Given the description of an element on the screen output the (x, y) to click on. 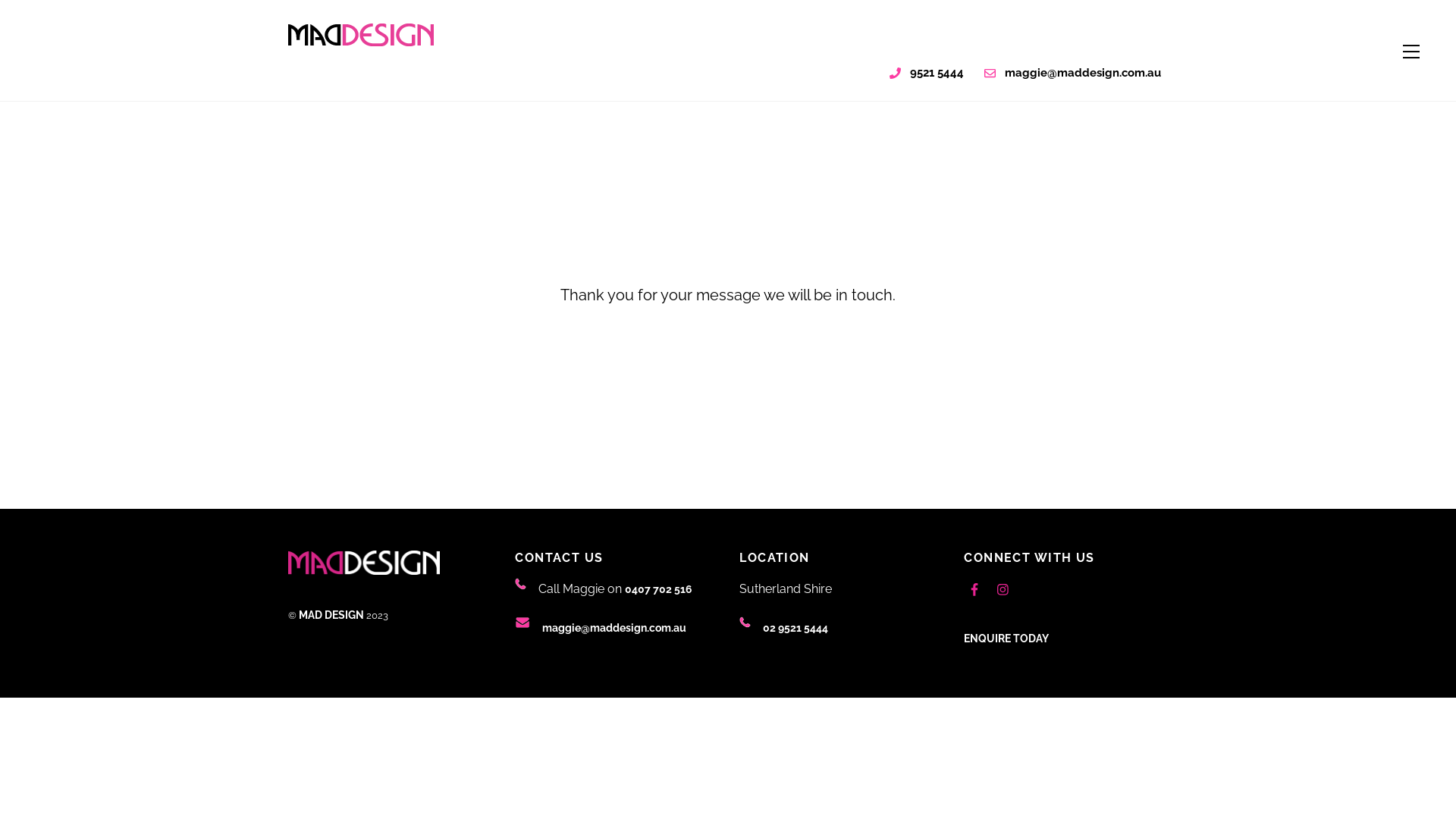
MAD DESIGN Element type: hover (363, 570)
0407 702 516 Element type: text (658, 589)
mad-logo Element type: hover (363, 562)
MAD DESIGN Element type: text (331, 614)
maggie@maddesign.com.au Element type: text (1072, 72)
maggie@maddesign.com.au Element type: text (614, 627)
MAD DESIGN Element type: hover (360, 38)
ENQUIRE TODAY Element type: text (1005, 638)
9521 5444 Element type: text (926, 72)
logo Element type: hover (360, 34)
02 9521 5444 Element type: text (795, 627)
